Given the description of an element on the screen output the (x, y) to click on. 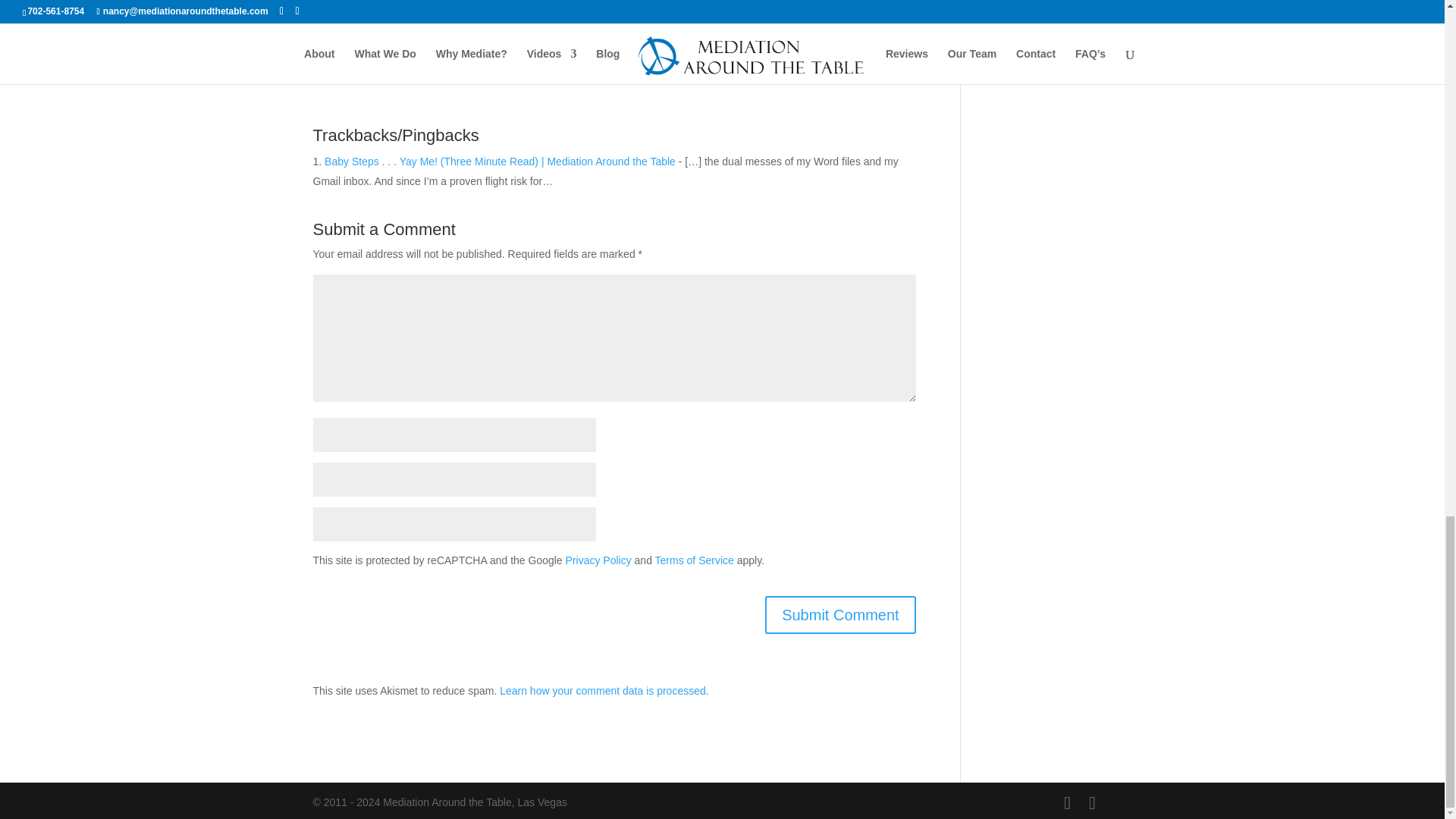
Submit Comment (840, 614)
